Given the description of an element on the screen output the (x, y) to click on. 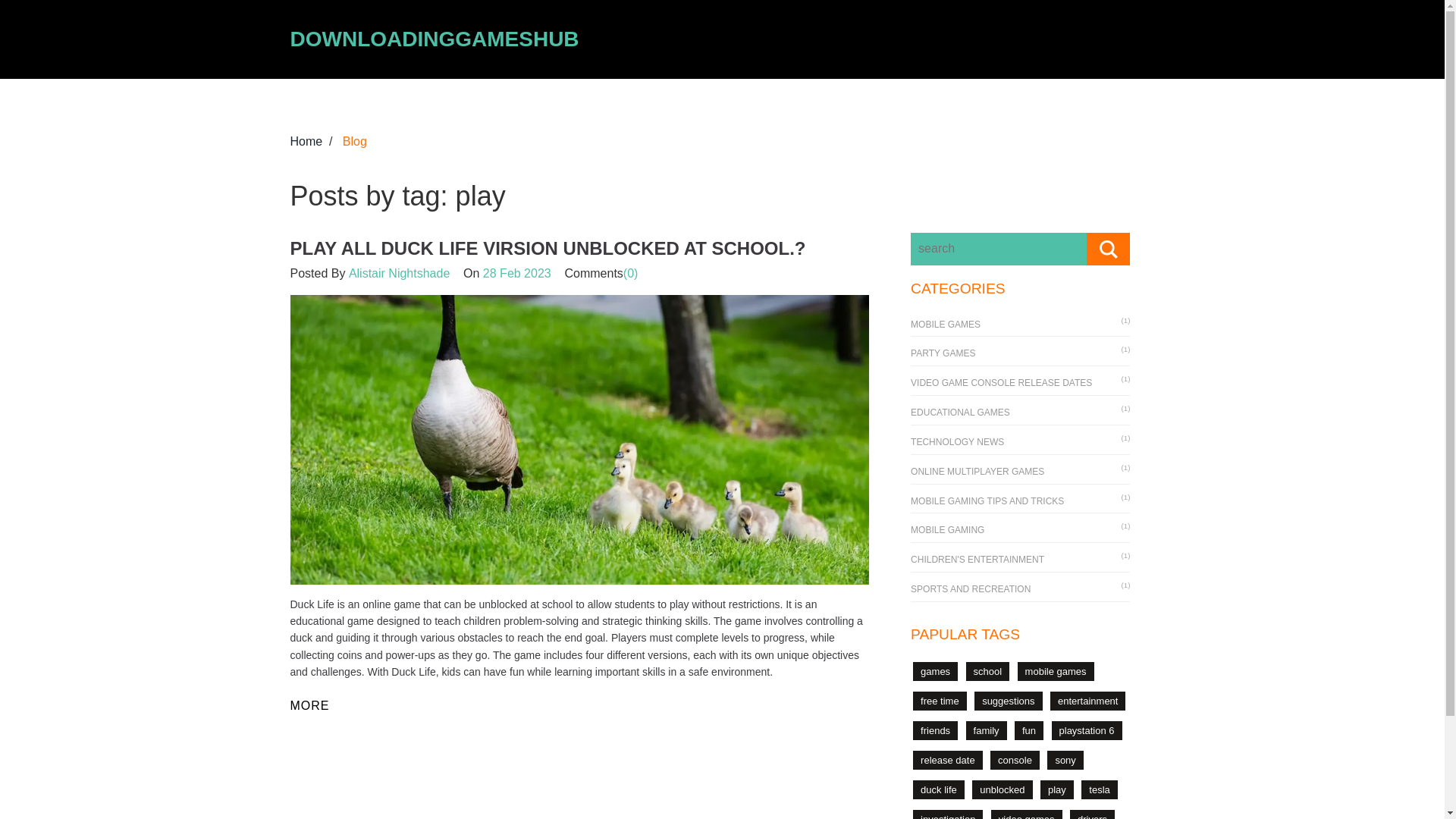
unblocked (1002, 789)
school (988, 670)
tesla (1098, 789)
PLAY ALL DUCK LIFE VIRSION UNBLOCKED AT SCHOOL.? (547, 248)
MORE (309, 702)
mobile games (1055, 670)
sony (1064, 760)
release date (947, 760)
family (986, 730)
fun (1028, 730)
DOWNLOADINGGAMESHUB (433, 38)
Home (305, 141)
suggestions (1008, 700)
video games (1026, 814)
console (1014, 760)
